Given the description of an element on the screen output the (x, y) to click on. 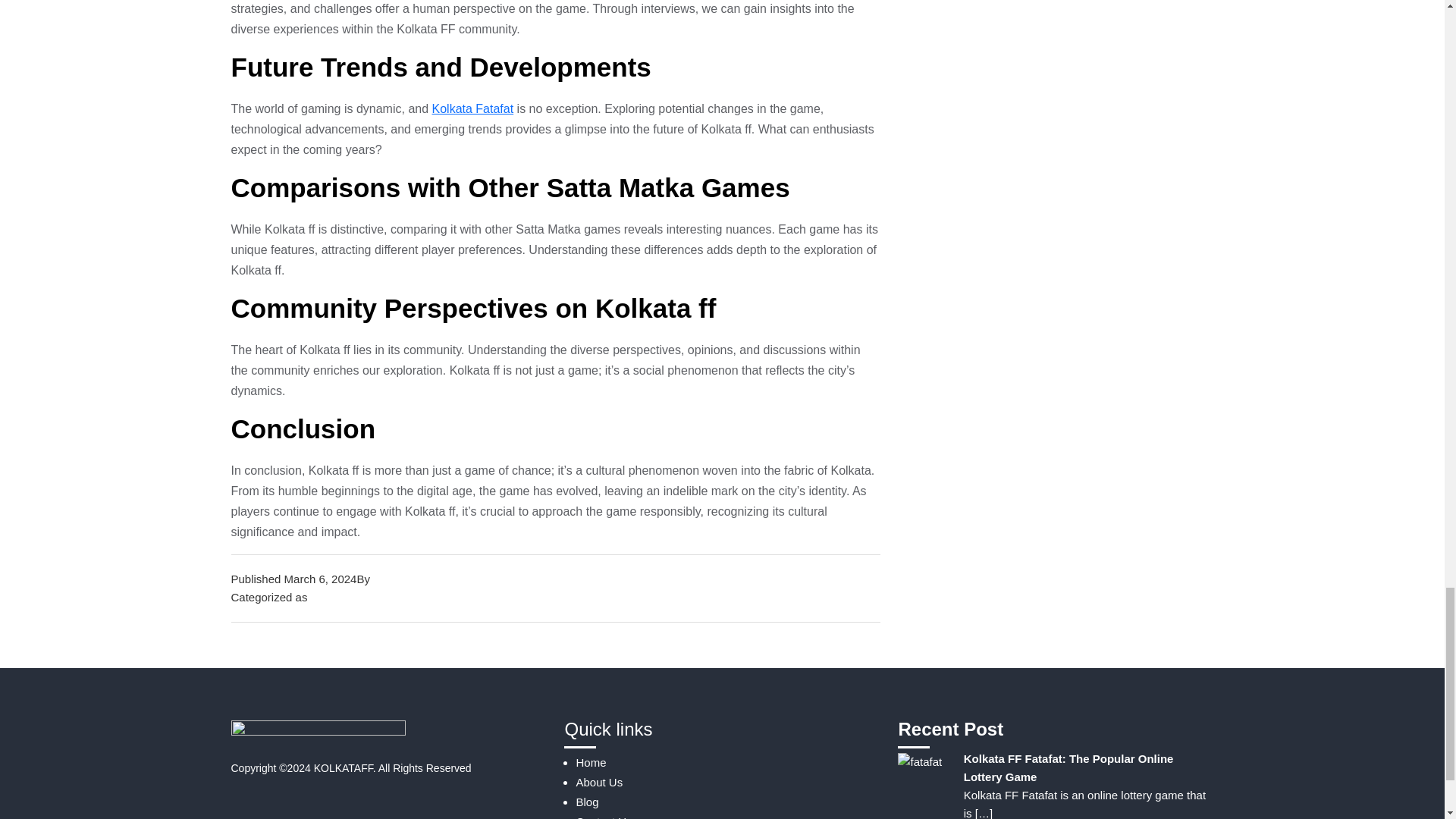
Blog (586, 801)
Contact Us (603, 816)
Kolkata FF Fatafat: The Popular Online Lottery Game (1068, 767)
Kolkata Fatafat (472, 108)
Home (590, 762)
Babai (386, 578)
About Us (599, 781)
Blog (322, 596)
